Given the description of an element on the screen output the (x, y) to click on. 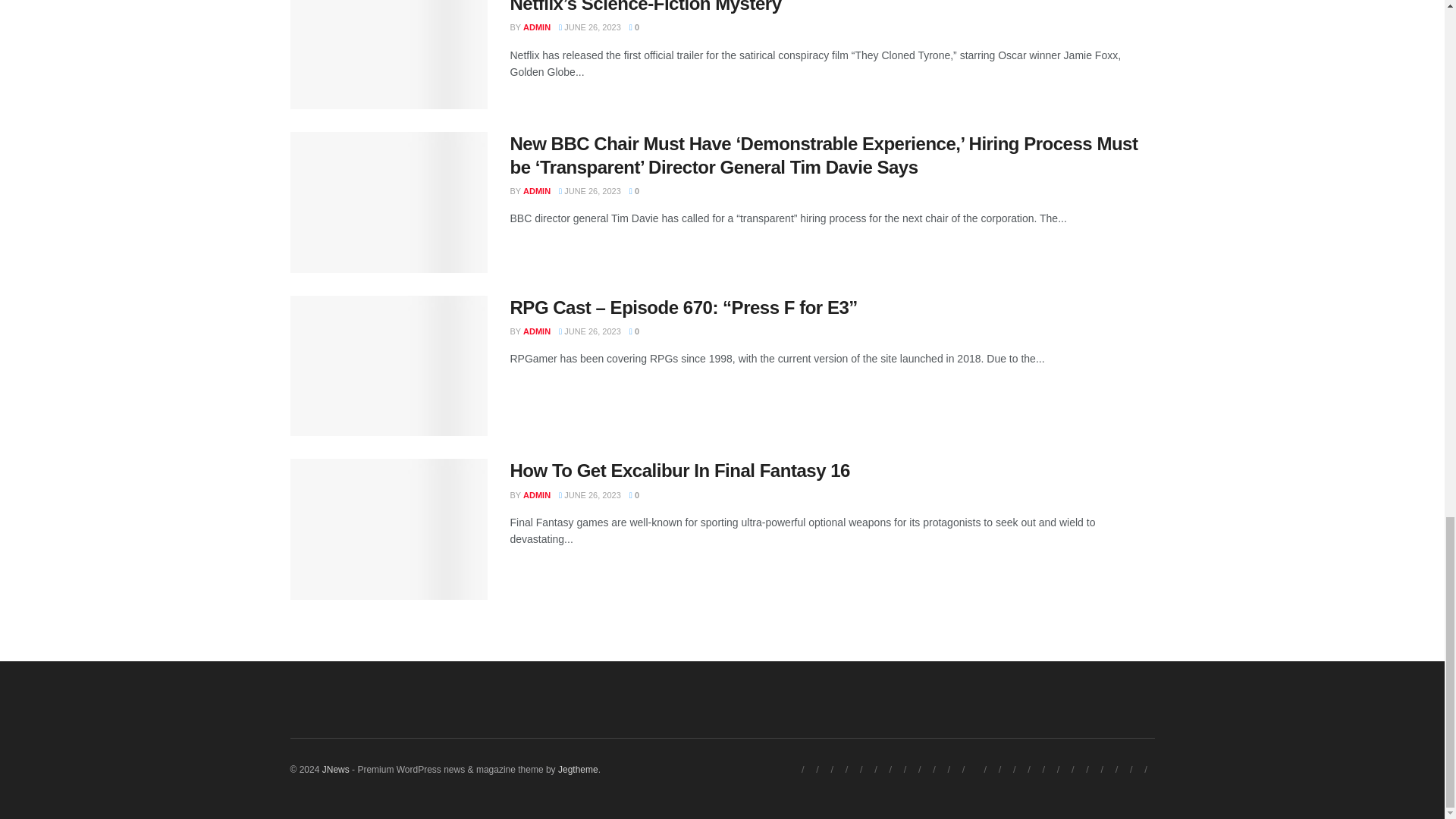
Jegtheme (577, 769)
